Given the description of an element on the screen output the (x, y) to click on. 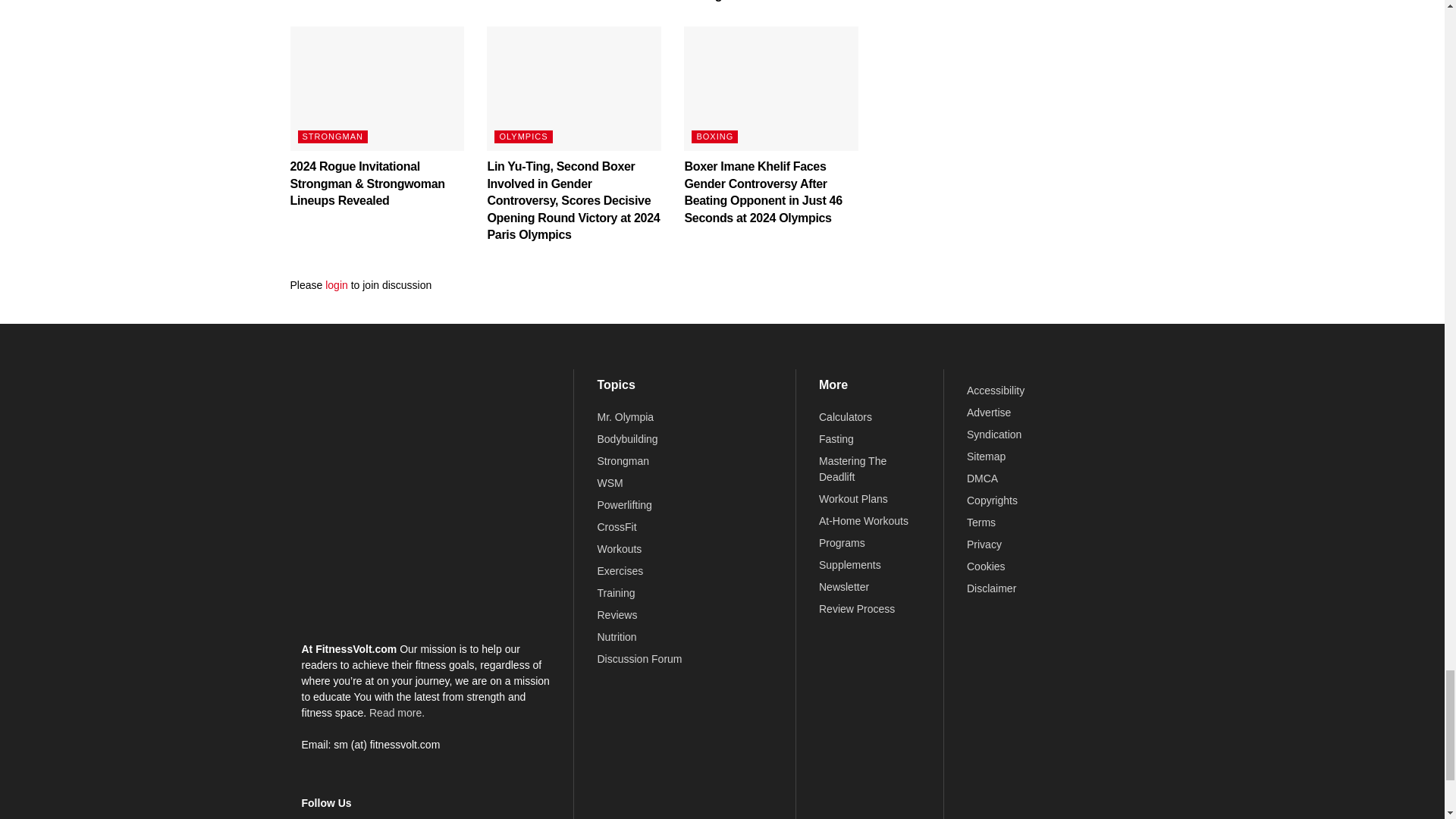
Read more about Fitness Volt (397, 712)
2019 Mr. Olympia News (624, 417)
Accessibility Conformance Status (995, 390)
